Given the description of an element on the screen output the (x, y) to click on. 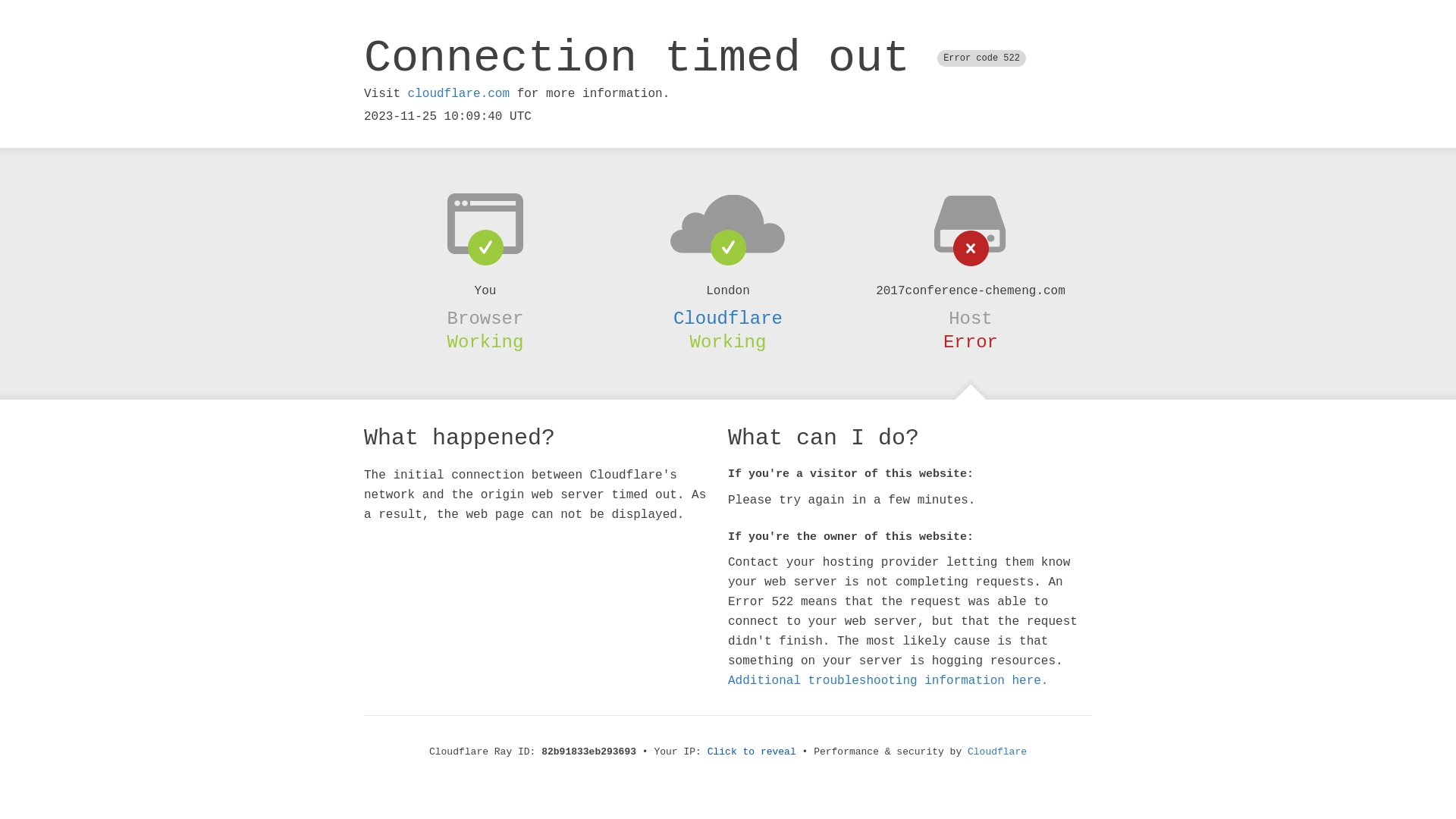
Additional troubleshooting information here. Element type: text (888, 680)
Cloudflare Element type: text (996, 751)
cloudflare.com Element type: text (458, 93)
Click to reveal Element type: text (751, 751)
Cloudflare Element type: text (727, 318)
